Given the description of an element on the screen output the (x, y) to click on. 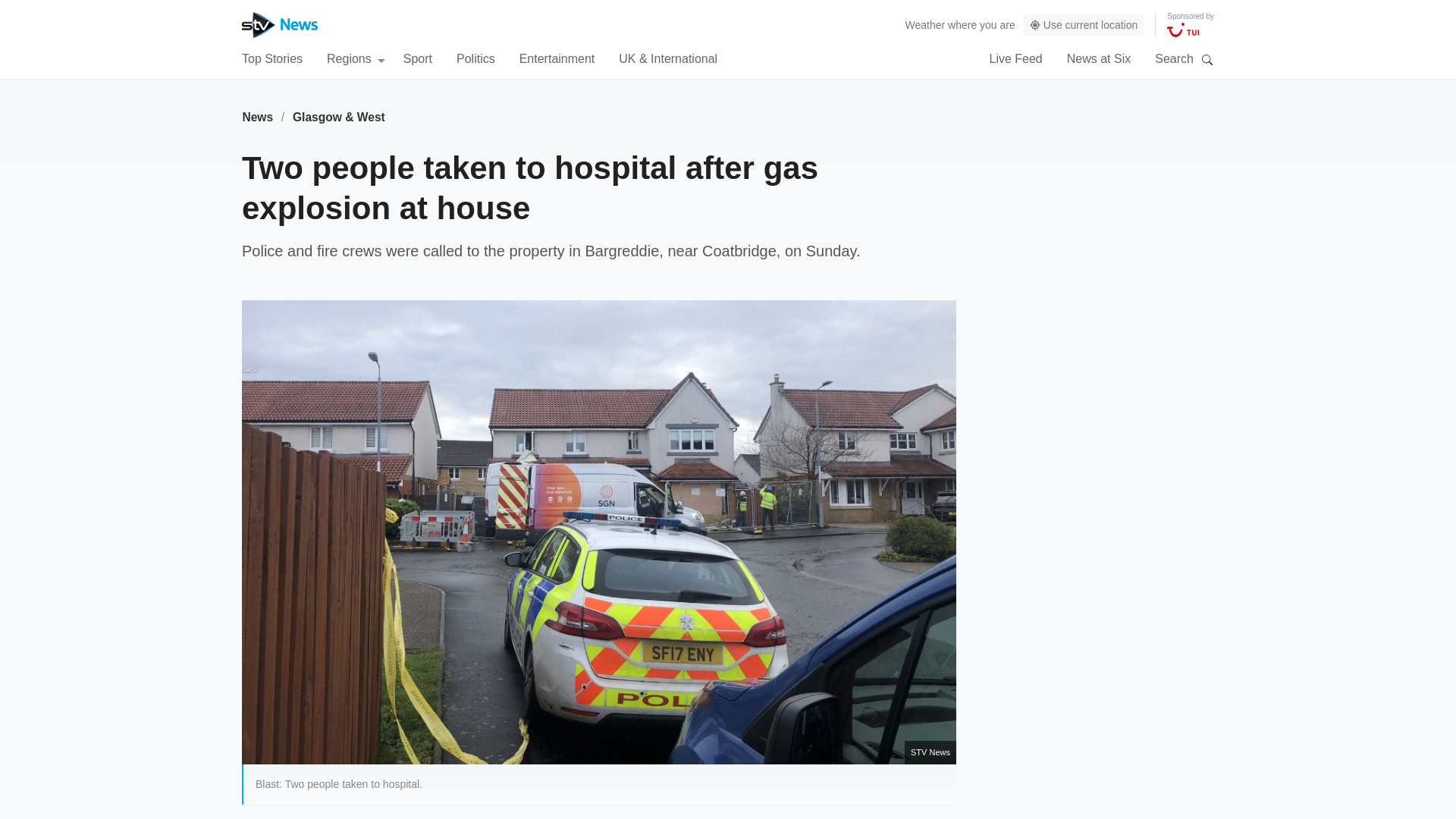
Search (1206, 59)
Politics (476, 57)
Weather (924, 24)
Regions (355, 57)
News at Six (1099, 57)
Use current location (1083, 25)
Entertainment (557, 57)
News (257, 116)
Live Feed (1015, 57)
Top Stories (271, 57)
